Given the description of an element on the screen output the (x, y) to click on. 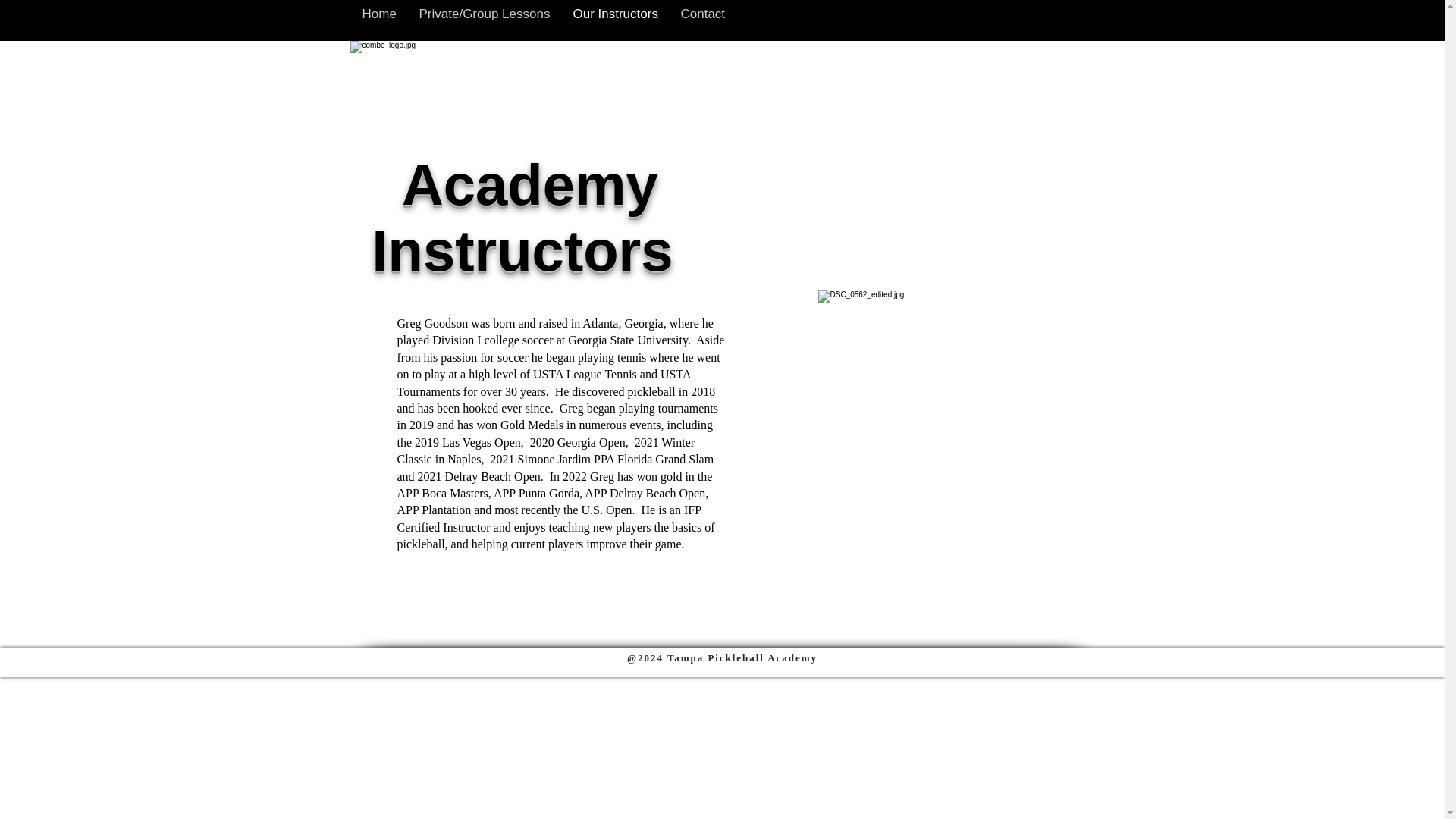
Home (378, 13)
Our Instructors (614, 13)
Contact (702, 13)
